Given the description of an element on the screen output the (x, y) to click on. 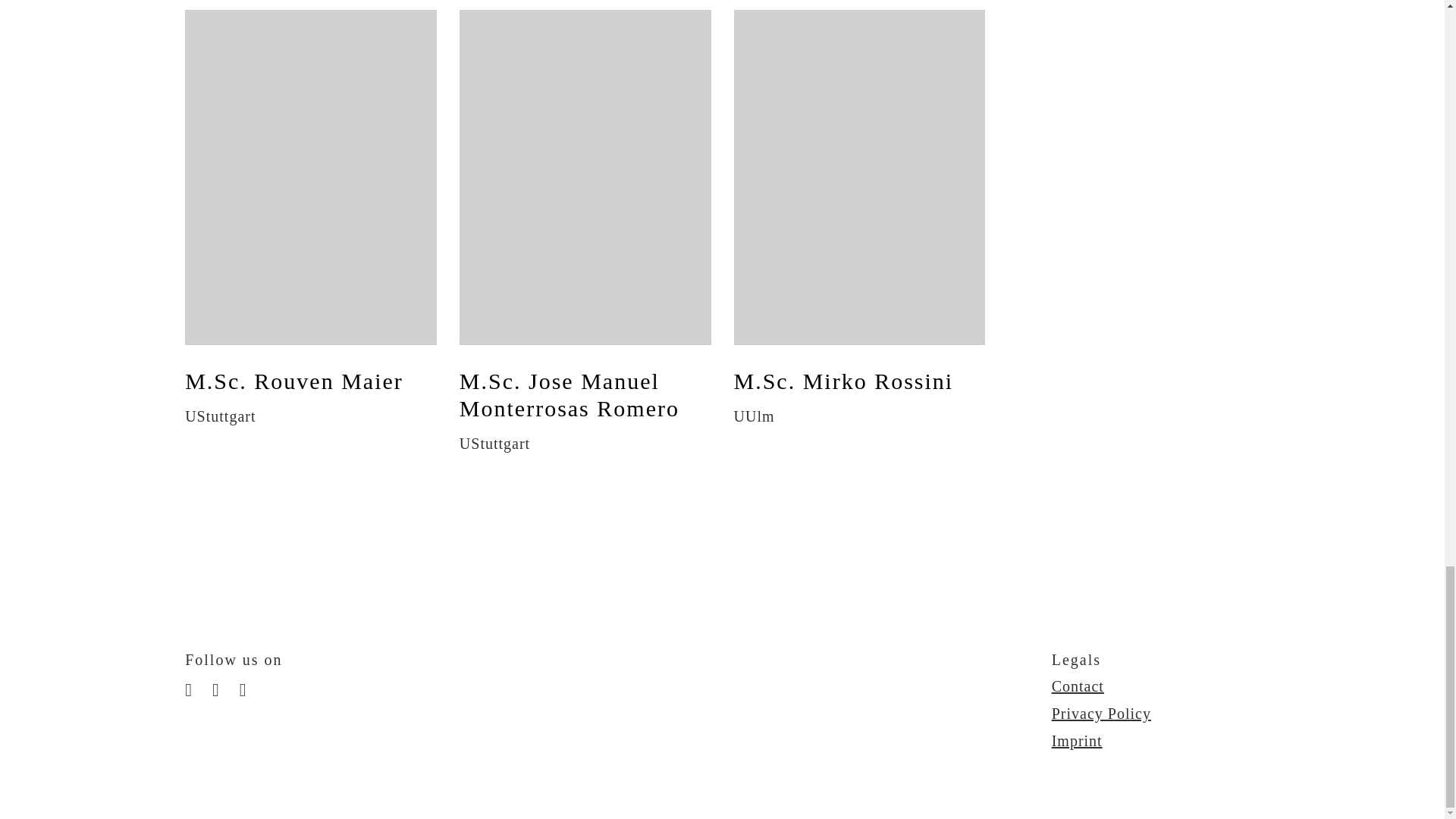
Privacy Policy (1101, 713)
Imprint (1076, 740)
Contact (1077, 686)
